Given the description of an element on the screen output the (x, y) to click on. 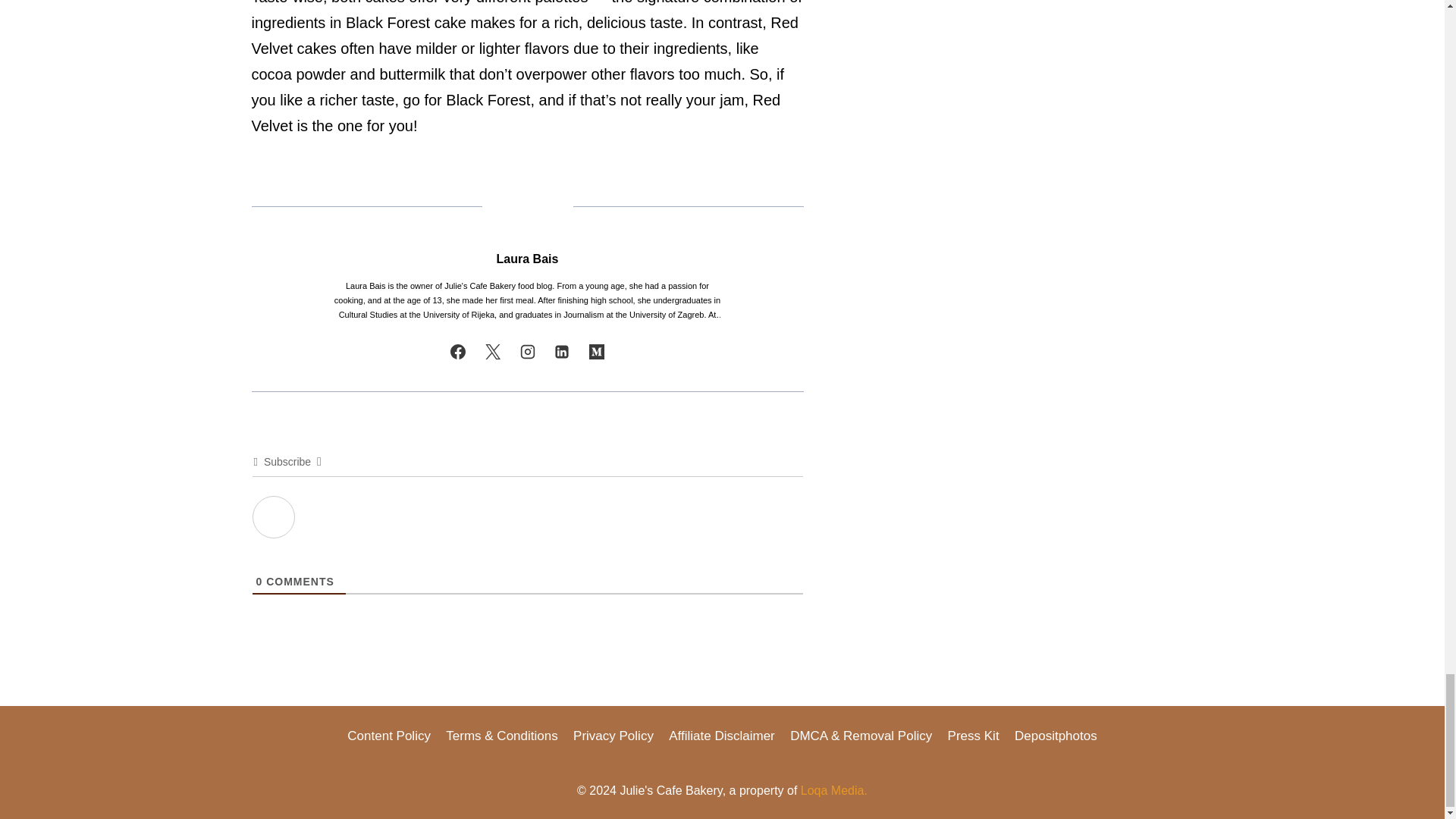
Follow Laura Bais on Linkedin (561, 351)
Follow Laura Bais on Instagram (527, 351)
Incomera d.o.o. (833, 789)
Follow Laura Bais on Facebook (457, 351)
Posts by Laura Bais (527, 258)
Follow Laura Bais on Medium (595, 351)
Follow Laura Bais on X formerly Twitter (492, 351)
